Given the description of an element on the screen output the (x, y) to click on. 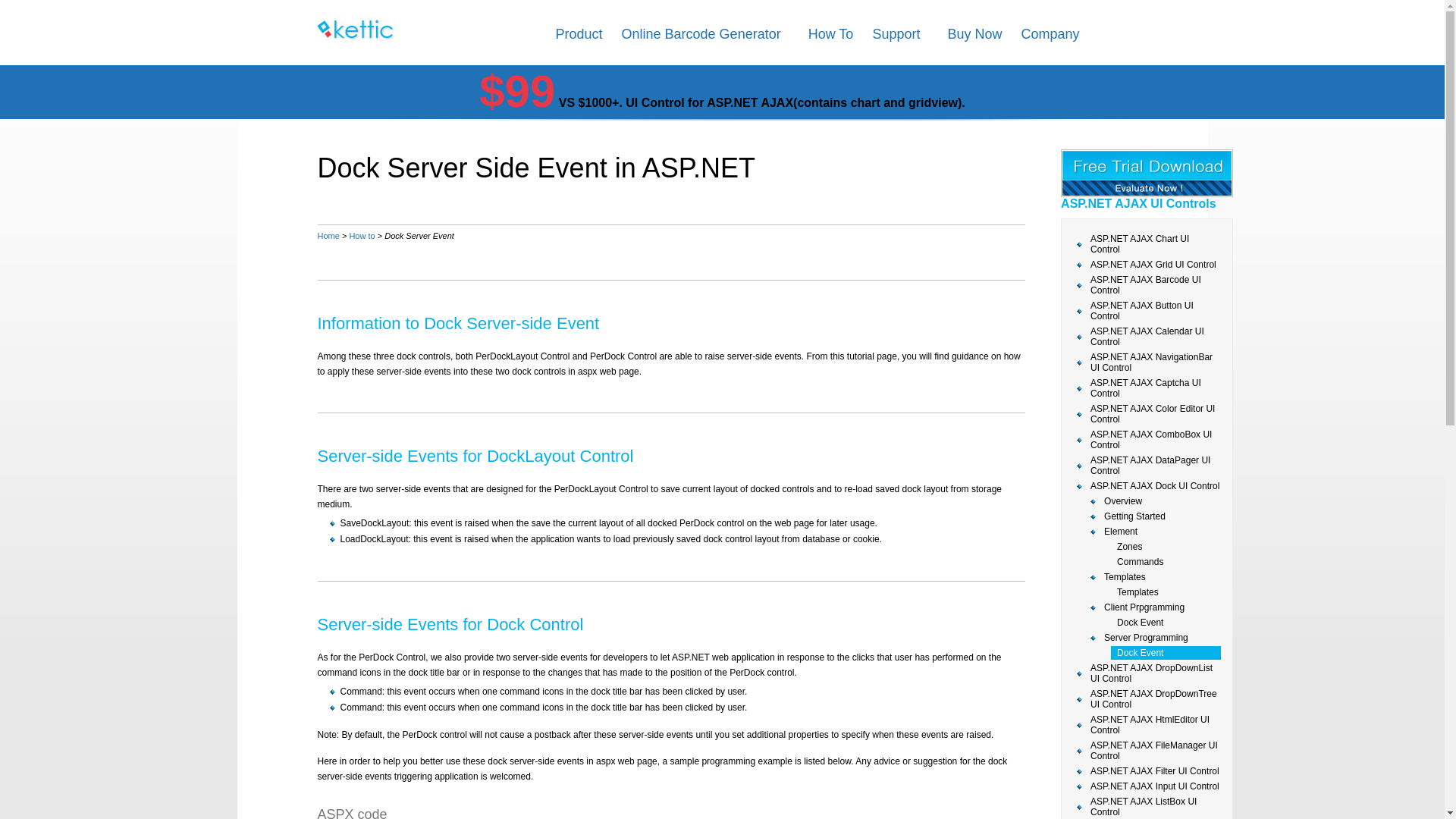
Free Online Barcode Generator (700, 37)
Support (896, 37)
ASP.NET AJAX Calendar UI Control (1149, 336)
ASP.NET AJAX Button UI Control (1149, 310)
Product (578, 37)
Company (1049, 37)
Online Barcode Generator (700, 37)
How To (830, 37)
Home (328, 235)
About us (1049, 37)
